Given the description of an element on the screen output the (x, y) to click on. 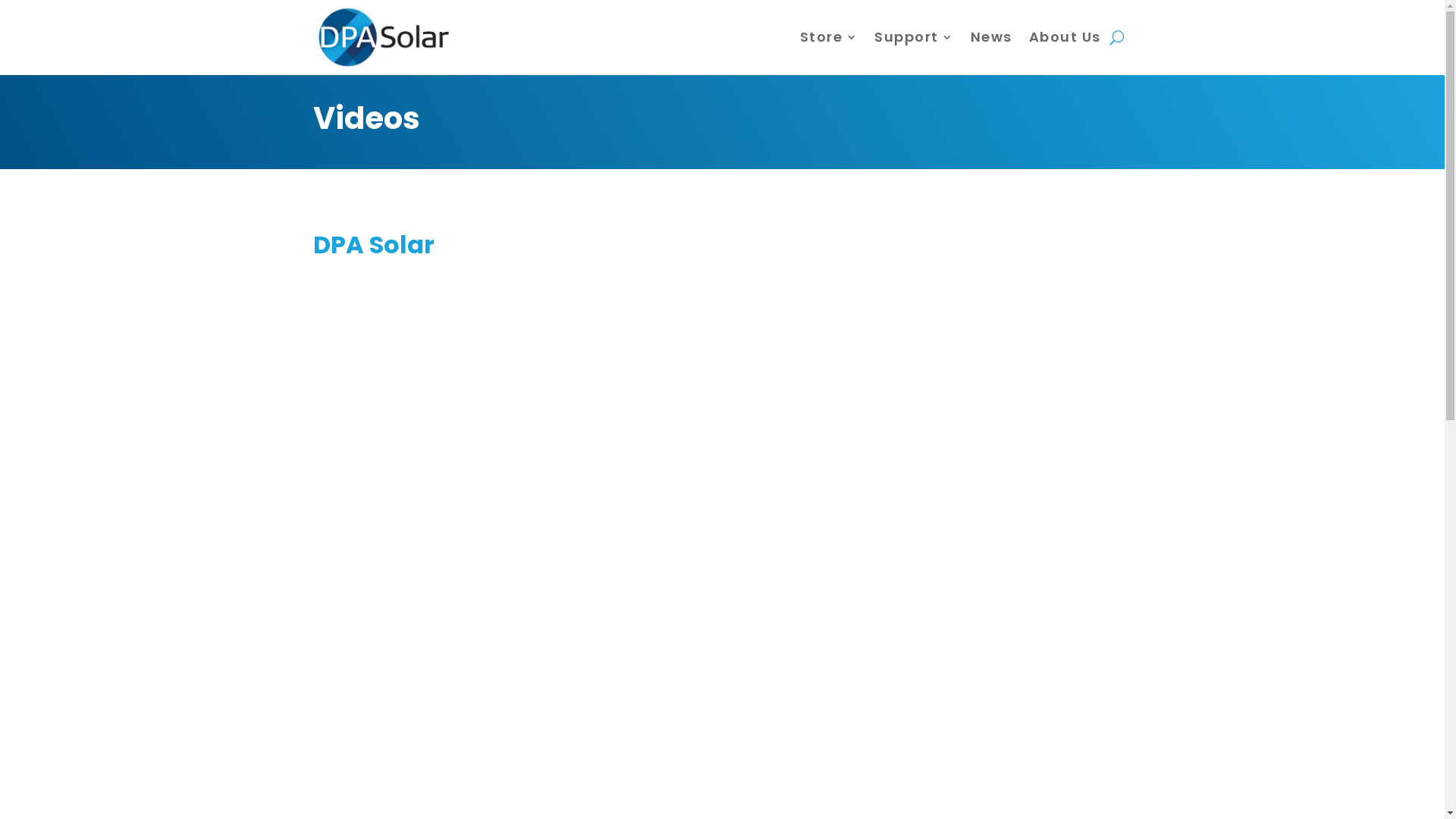
Support Element type: text (913, 36)
News Element type: text (991, 36)
YouTube video player Element type: hover (937, 654)
Store Element type: text (828, 36)
YouTube video player Element type: hover (937, 381)
YouTube video player Element type: hover (505, 654)
YouTube video player Element type: hover (505, 381)
About Us Element type: text (1064, 36)
